Given the description of an element on the screen output the (x, y) to click on. 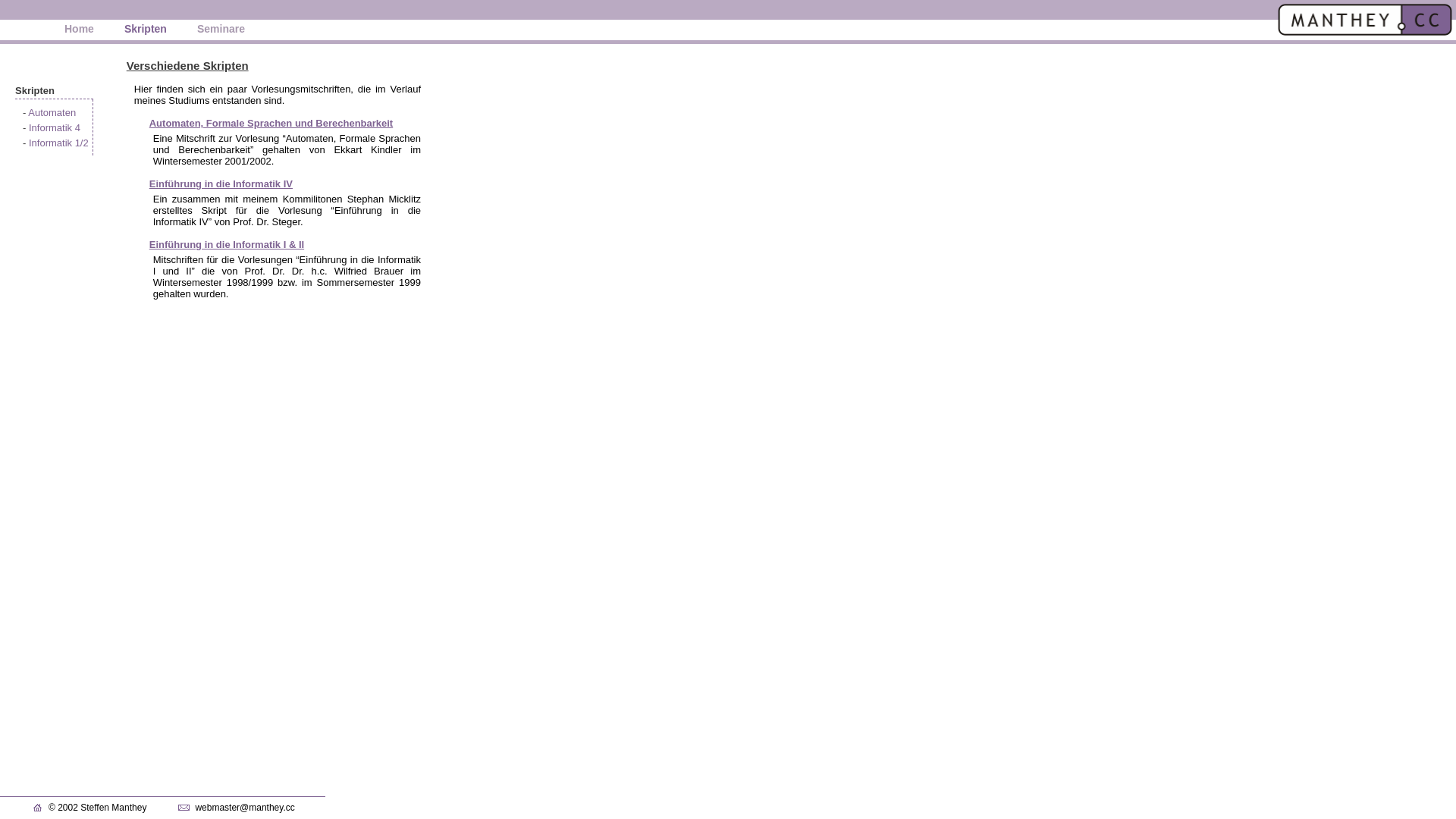
Automaten, Formale Sprachen und Berechenbarkeit Element type: text (270, 122)
Seminare Element type: text (220, 28)
Informatik 1/2 Element type: text (58, 141)
Home Element type: text (79, 28)
Informatik 4 Element type: text (54, 126)
Automaten Element type: text (51, 111)
